Given the description of an element on the screen output the (x, y) to click on. 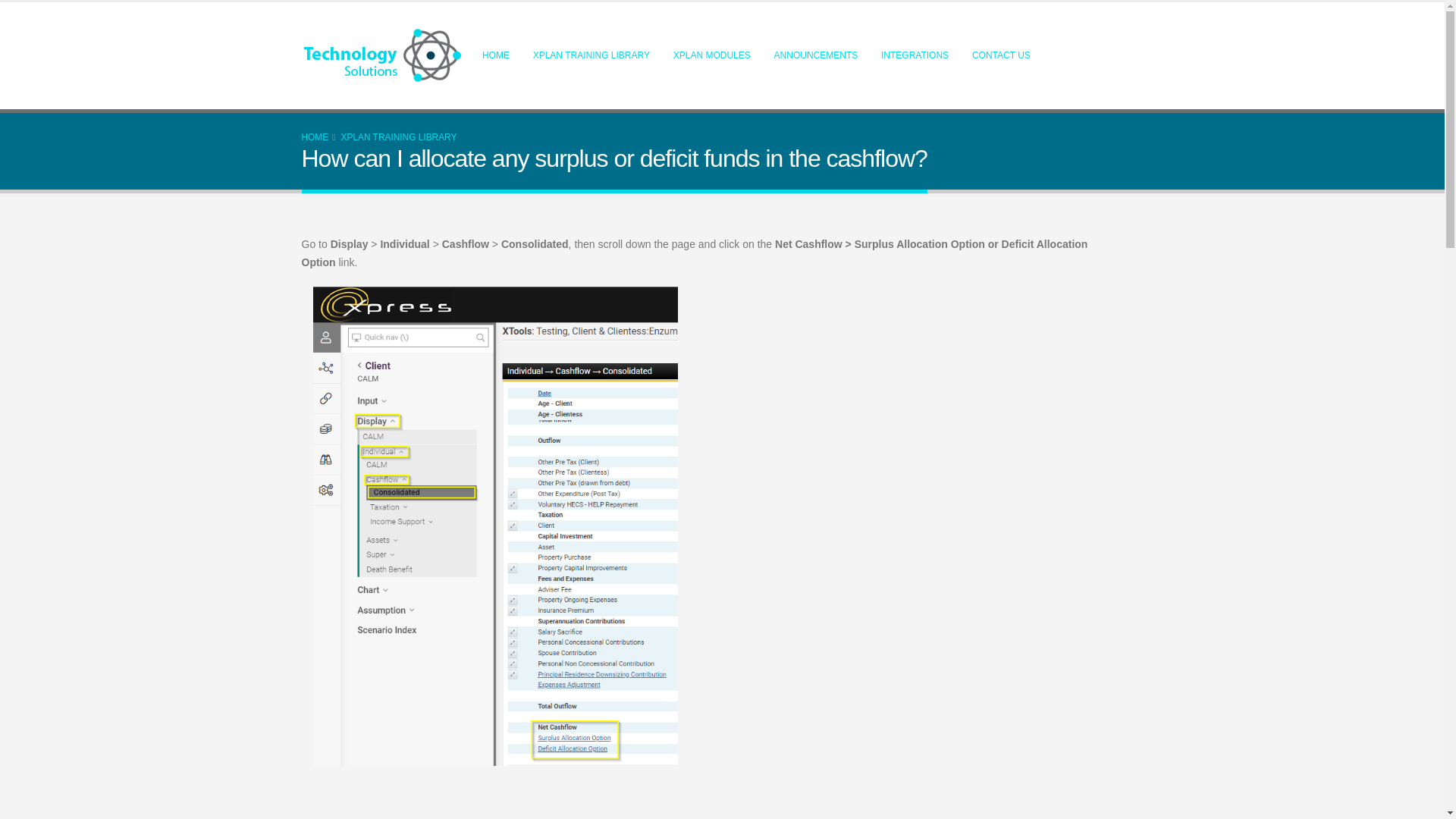
XPLAN TRAINING LIBRARY (398, 136)
ANNOUNCEMENTS (814, 55)
HOME (496, 55)
XPLAN MODULES (711, 55)
CONTACT US (1001, 55)
HOME (315, 136)
XPLAN TRAINING LIBRARY (591, 55)
INTEGRATIONS (914, 55)
